Given the description of an element on the screen output the (x, y) to click on. 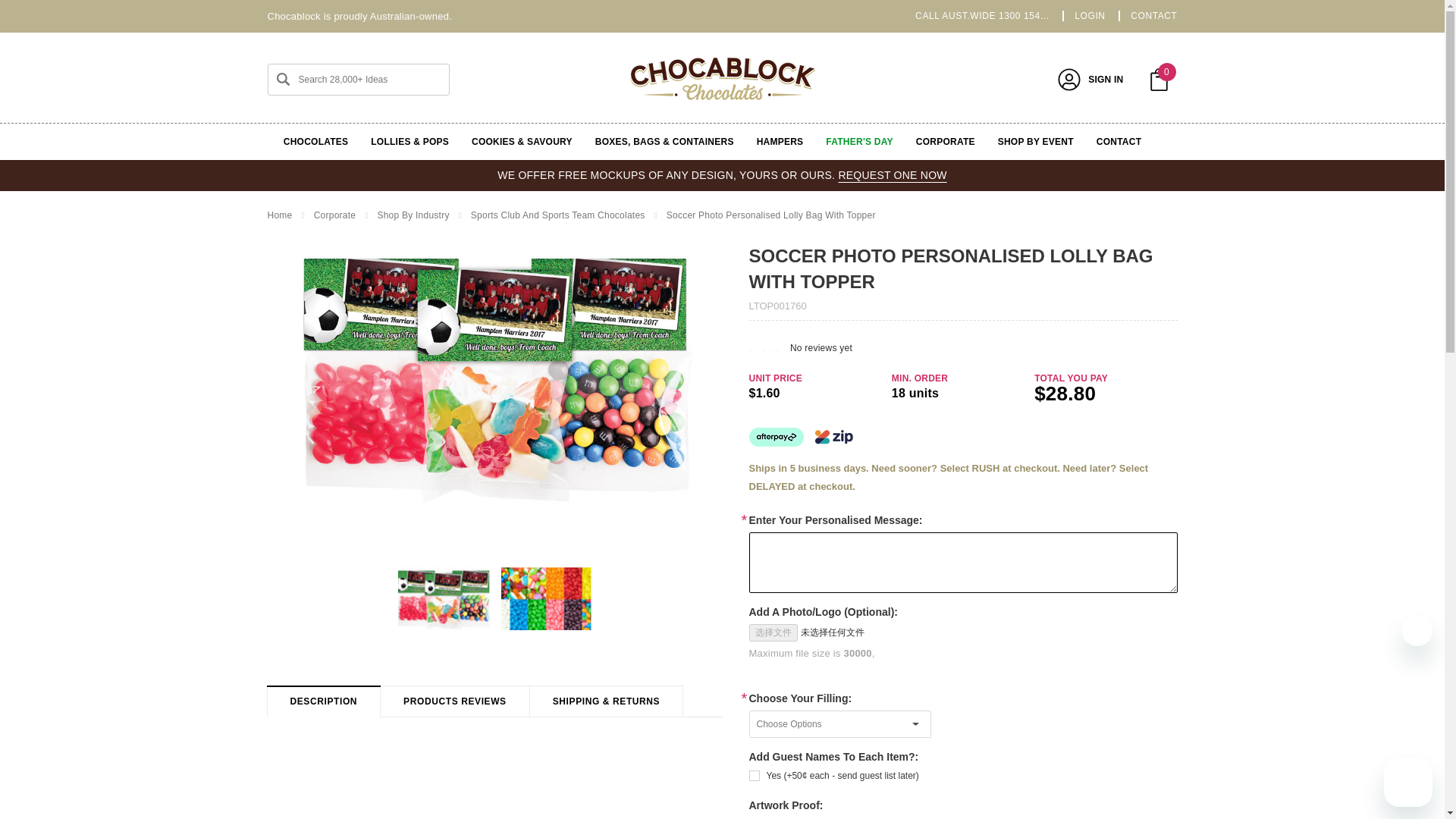
Chocablock Chocolates (720, 79)
Filling options for your lolly bags (545, 598)
Soccer Photo Personalised Lolly Bag With Topper (443, 598)
